Given the description of an element on the screen output the (x, y) to click on. 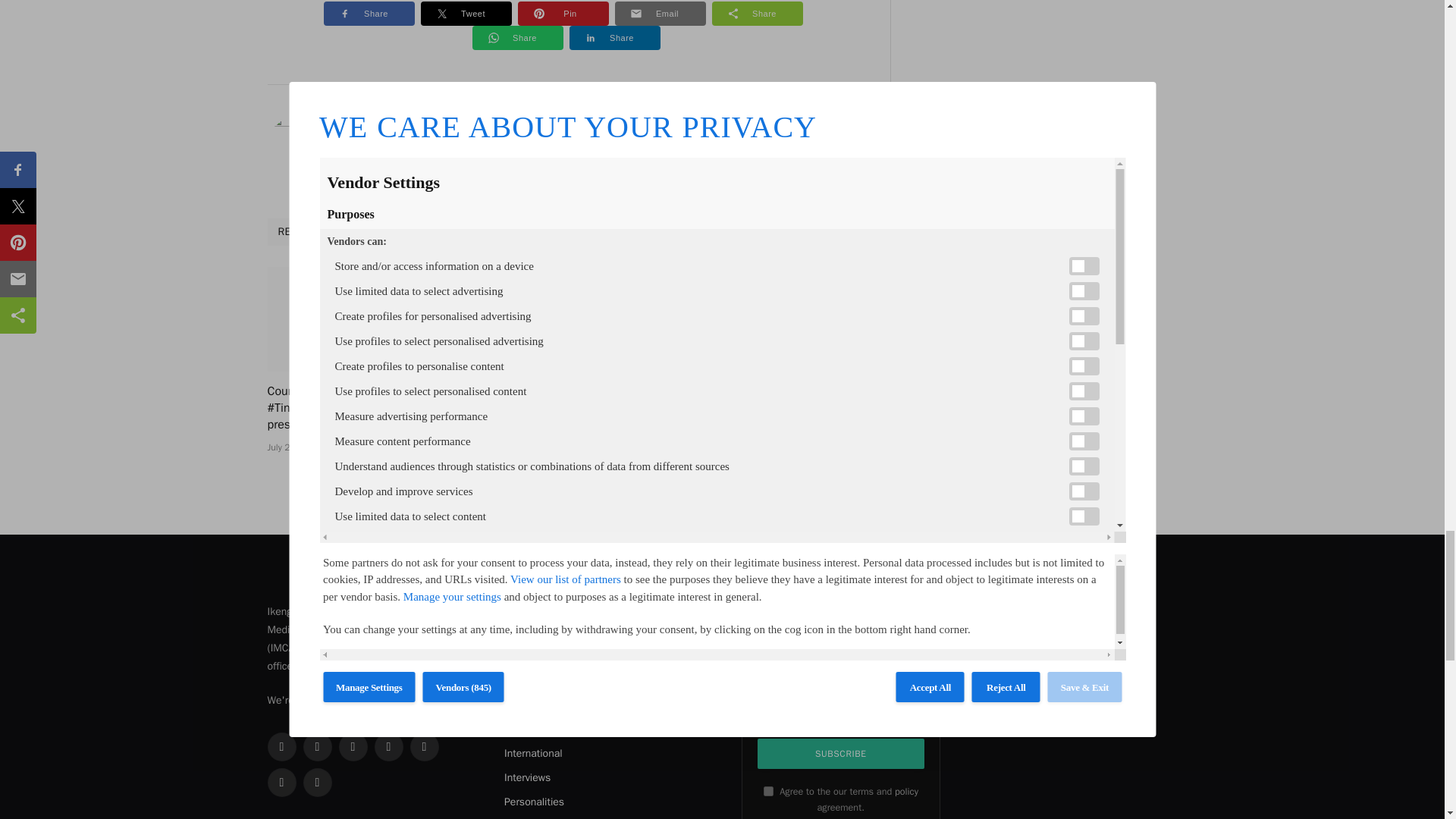
on (767, 791)
Subscribe (840, 753)
